Given the description of an element on the screen output the (x, y) to click on. 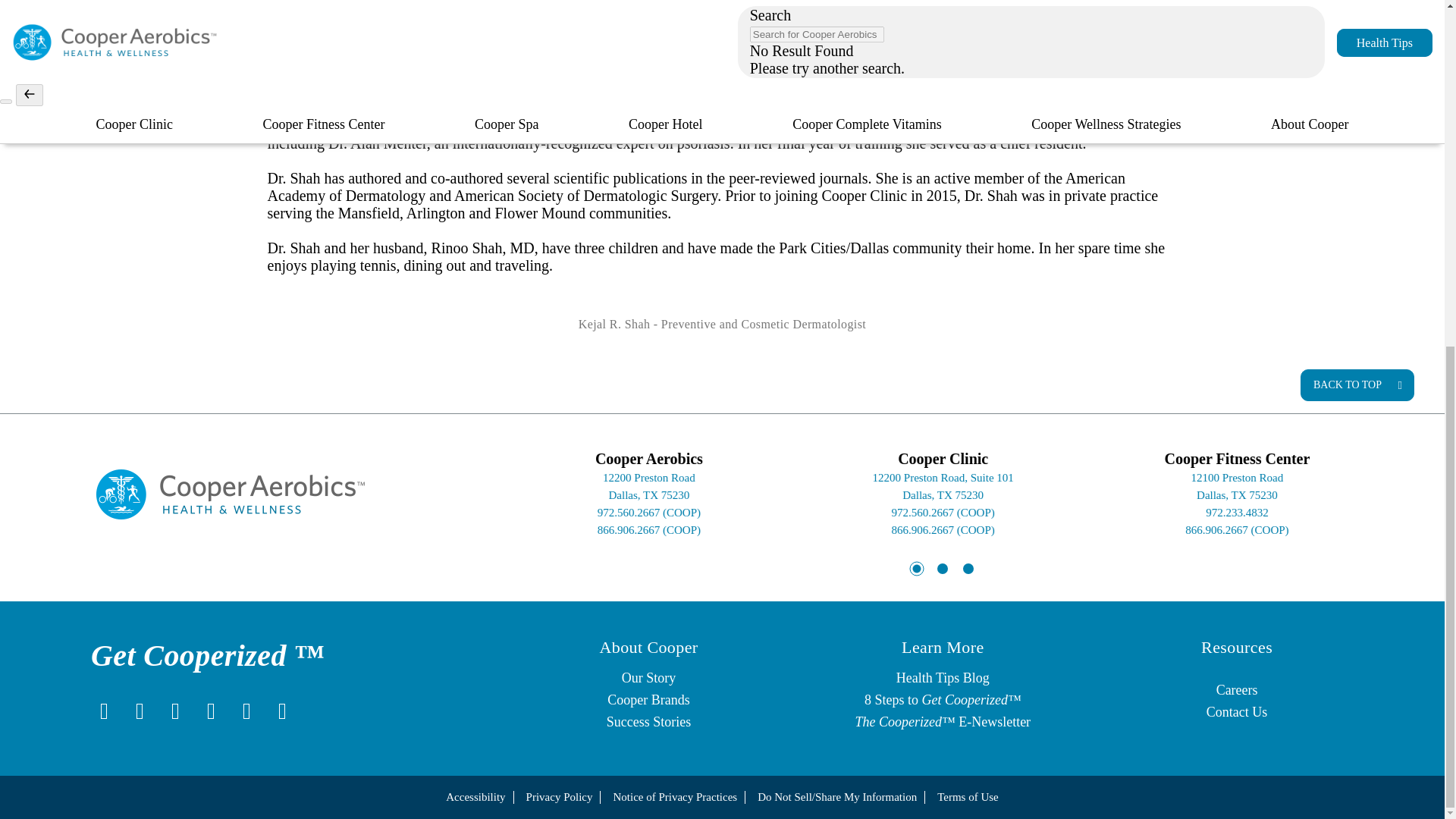
12200 Preston Road Dallas, TX 75230 (648, 486)
12200 Preston Road, Suite 101 Dallas, TX 75230 (942, 486)
12100 Preston Road Dallas, TX 75230 (1236, 486)
